Given the description of an element on the screen output the (x, y) to click on. 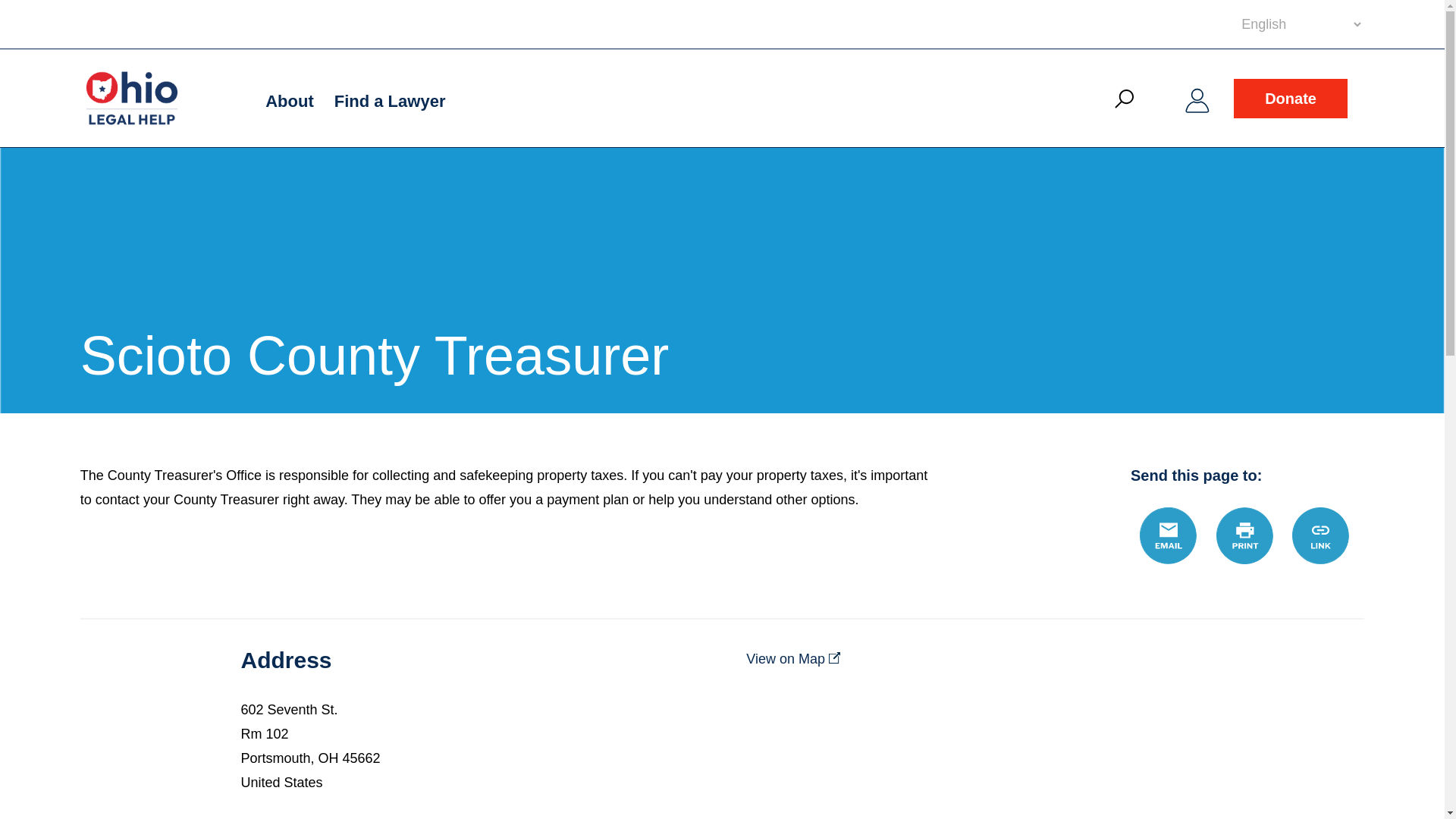
Donate (1290, 97)
About (289, 101)
Link (1320, 535)
View on Map (800, 658)
Find a Lawyer (389, 101)
Email (1168, 535)
Find a lawyer (389, 101)
Print (1243, 535)
